Given the description of an element on the screen output the (x, y) to click on. 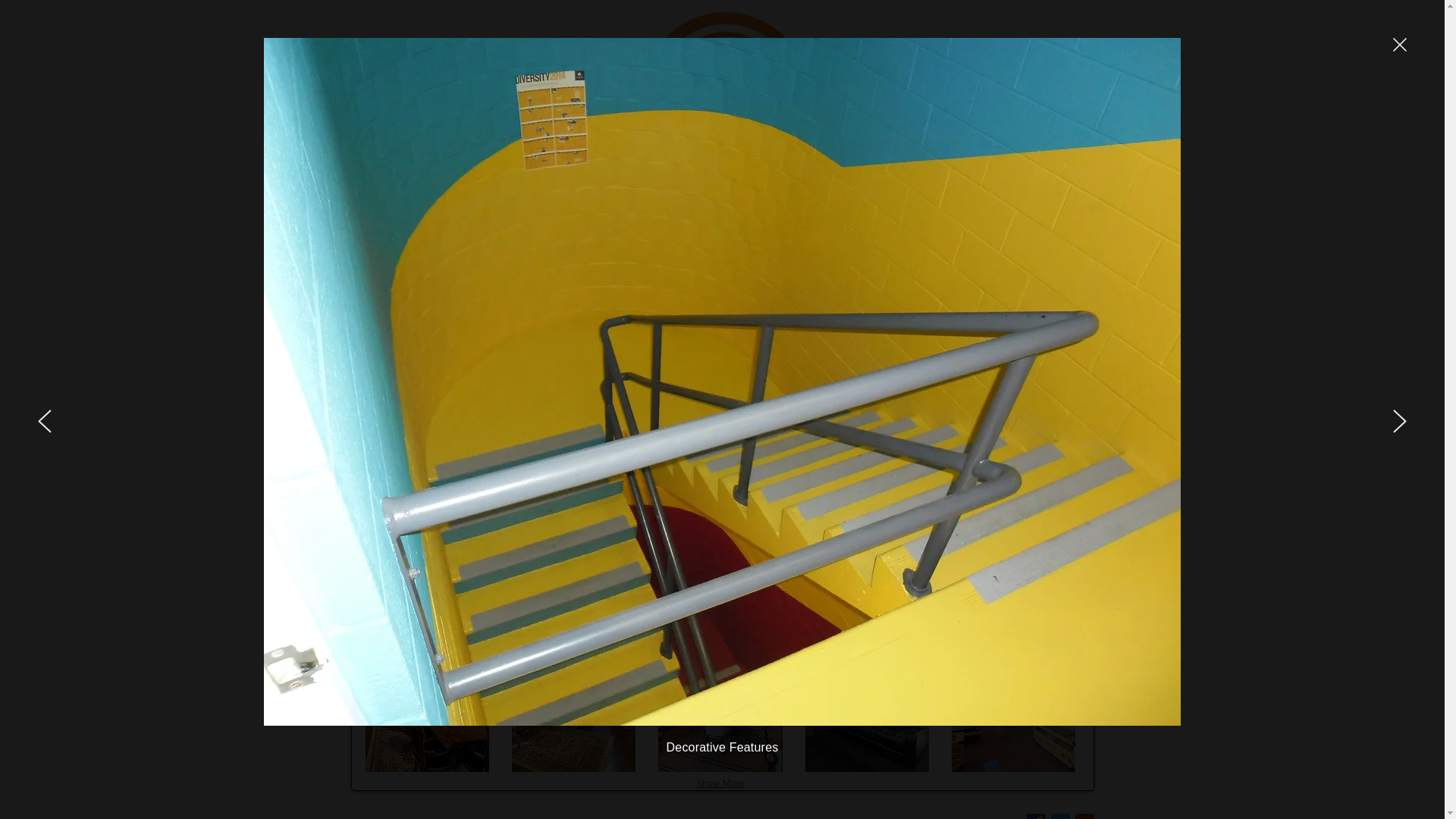
Show More Element type: text (719, 783)
ABOUT US Element type: text (632, 181)
PROJECTS Element type: text (819, 181)
CONTACT Element type: text (1004, 181)
admin@leathampainting.com.au Element type: text (970, 111)
HOME Element type: text (447, 181)
02 4945 1330 Element type: text (923, 96)
